Given the description of an element on the screen output the (x, y) to click on. 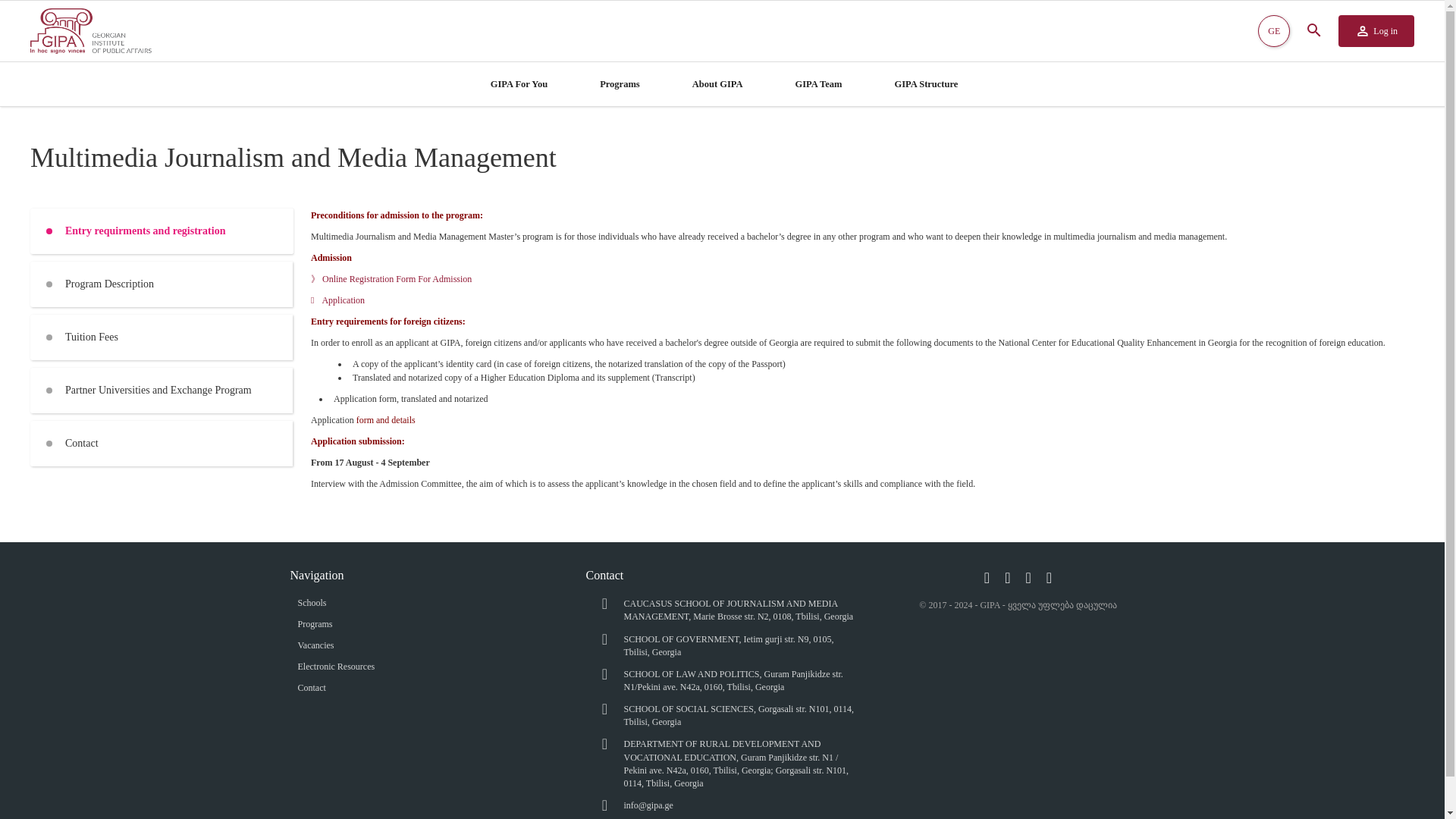
Log in (1375, 30)
Log in (1375, 30)
GE (1273, 30)
GEO (1273, 30)
